Given the description of an element on the screen output the (x, y) to click on. 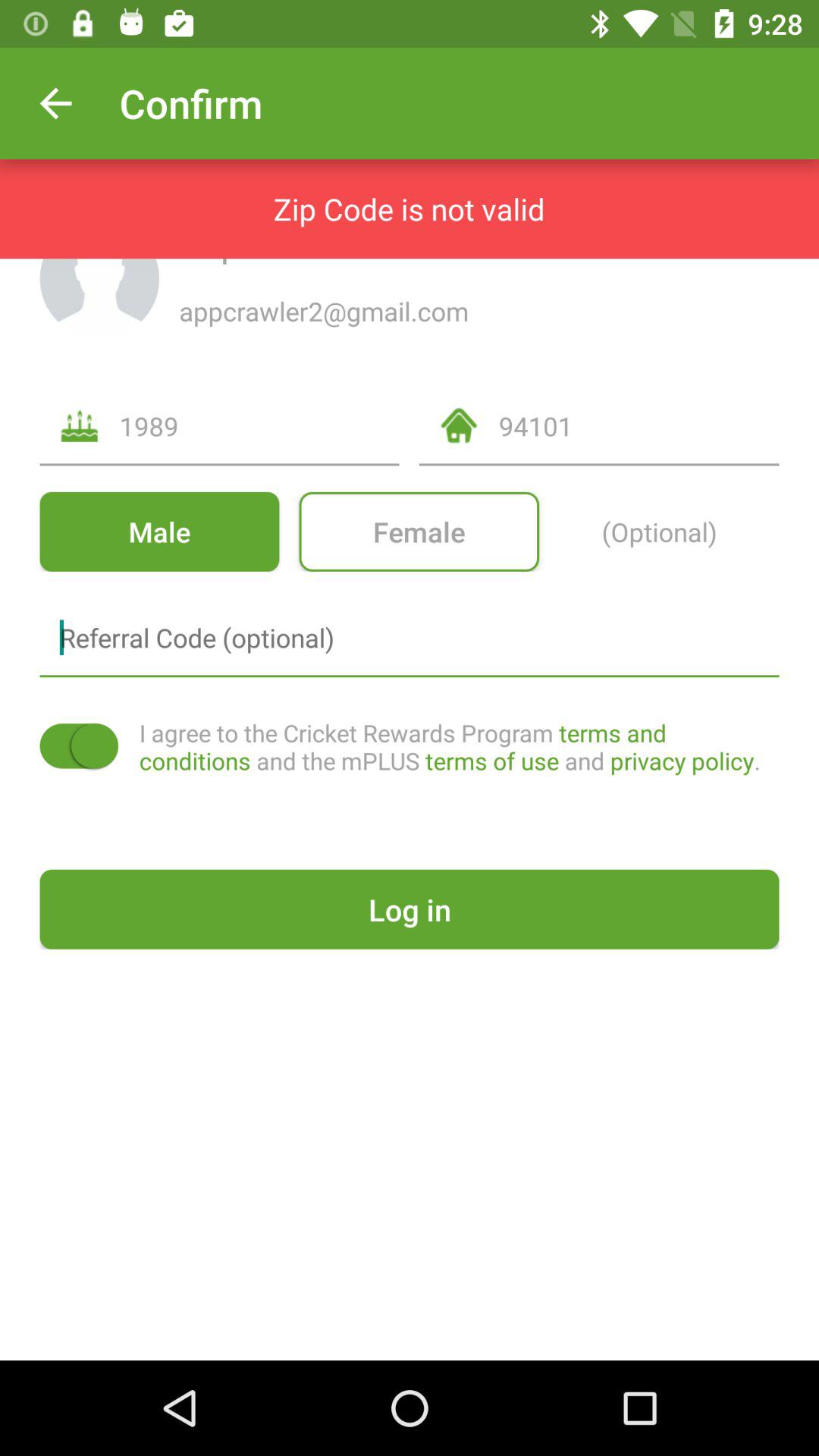
open app next to confirm icon (55, 103)
